Given the description of an element on the screen output the (x, y) to click on. 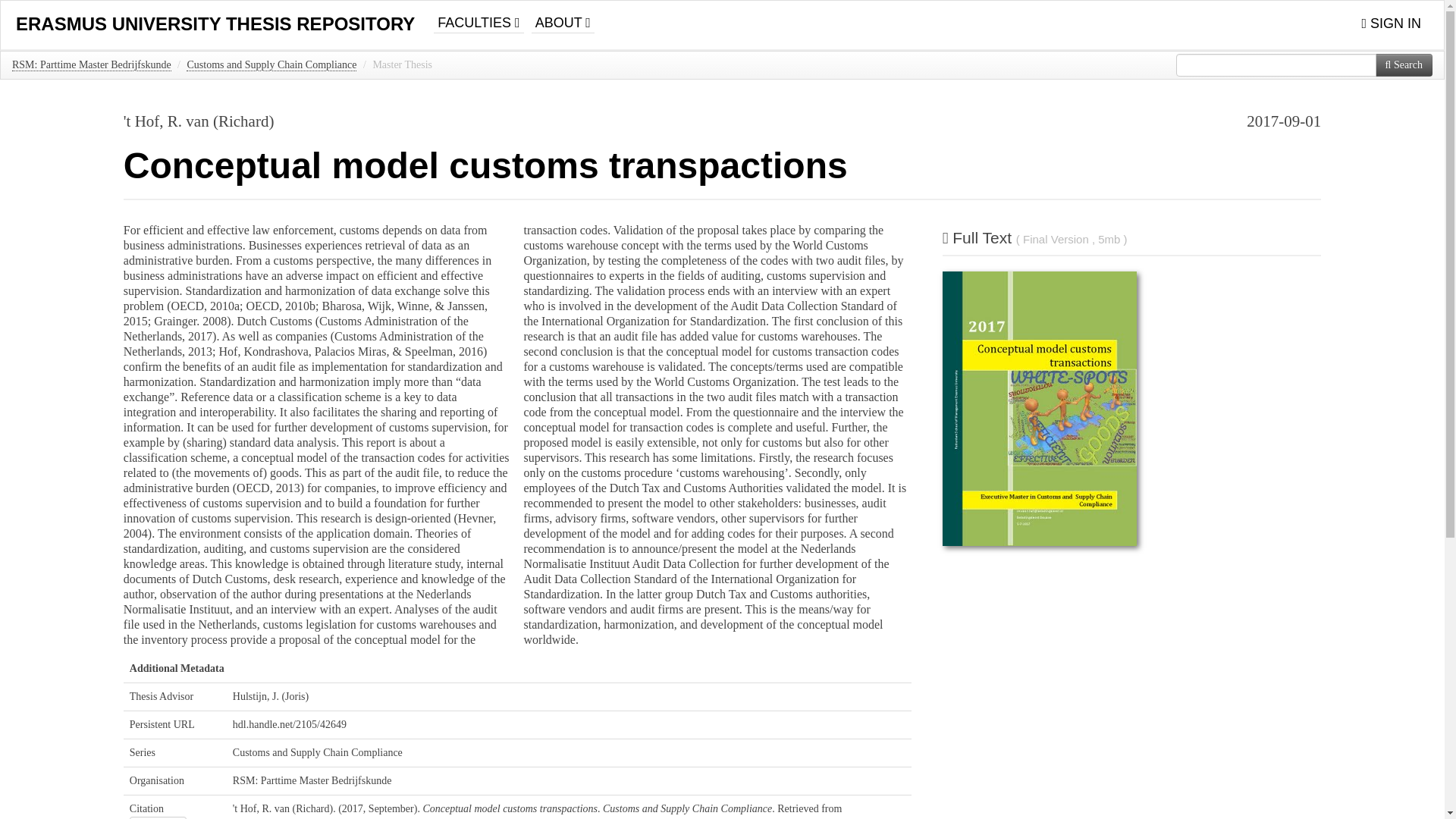
Search (1403, 65)
RSM: Parttime Master Bedrijfskunde (311, 780)
SIGN IN (1391, 23)
ERASMUS UNIVERSITY THESIS REPOSITORY (215, 24)
Customs and Supply Chain Compliance (317, 752)
Customs and Supply Chain Compliance (271, 64)
RSM: Parttime Master Bedrijfskunde (91, 64)
APA Style (157, 817)
ABOUT (562, 16)
FACULTIES (477, 16)
